Given the description of an element on the screen output the (x, y) to click on. 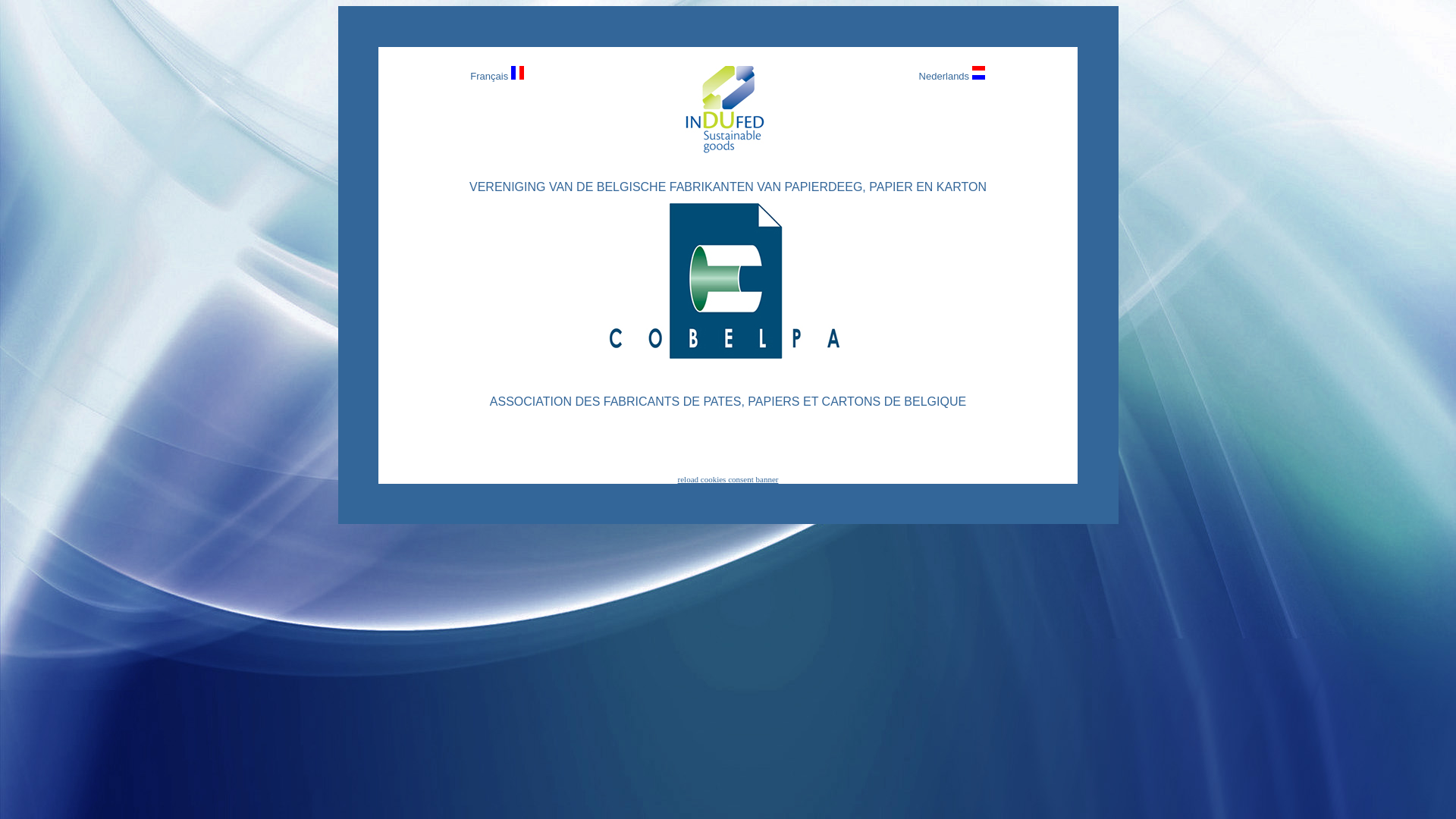
Nederlands Element type: text (944, 75)
reload cookies consent banner Element type: text (727, 478)
